Given the description of an element on the screen output the (x, y) to click on. 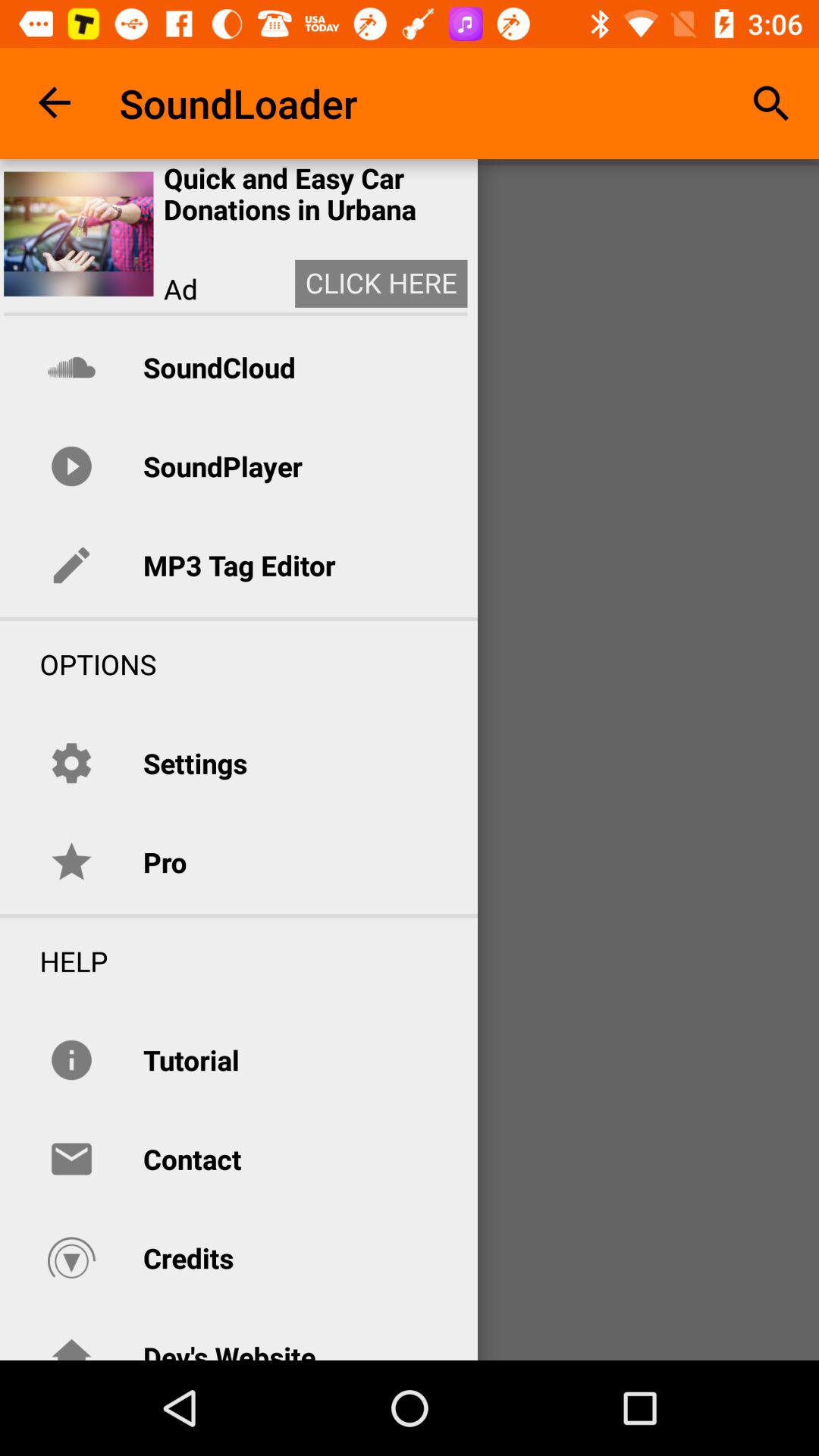
scroll to the tutorial item (191, 1059)
